Given the description of an element on the screen output the (x, y) to click on. 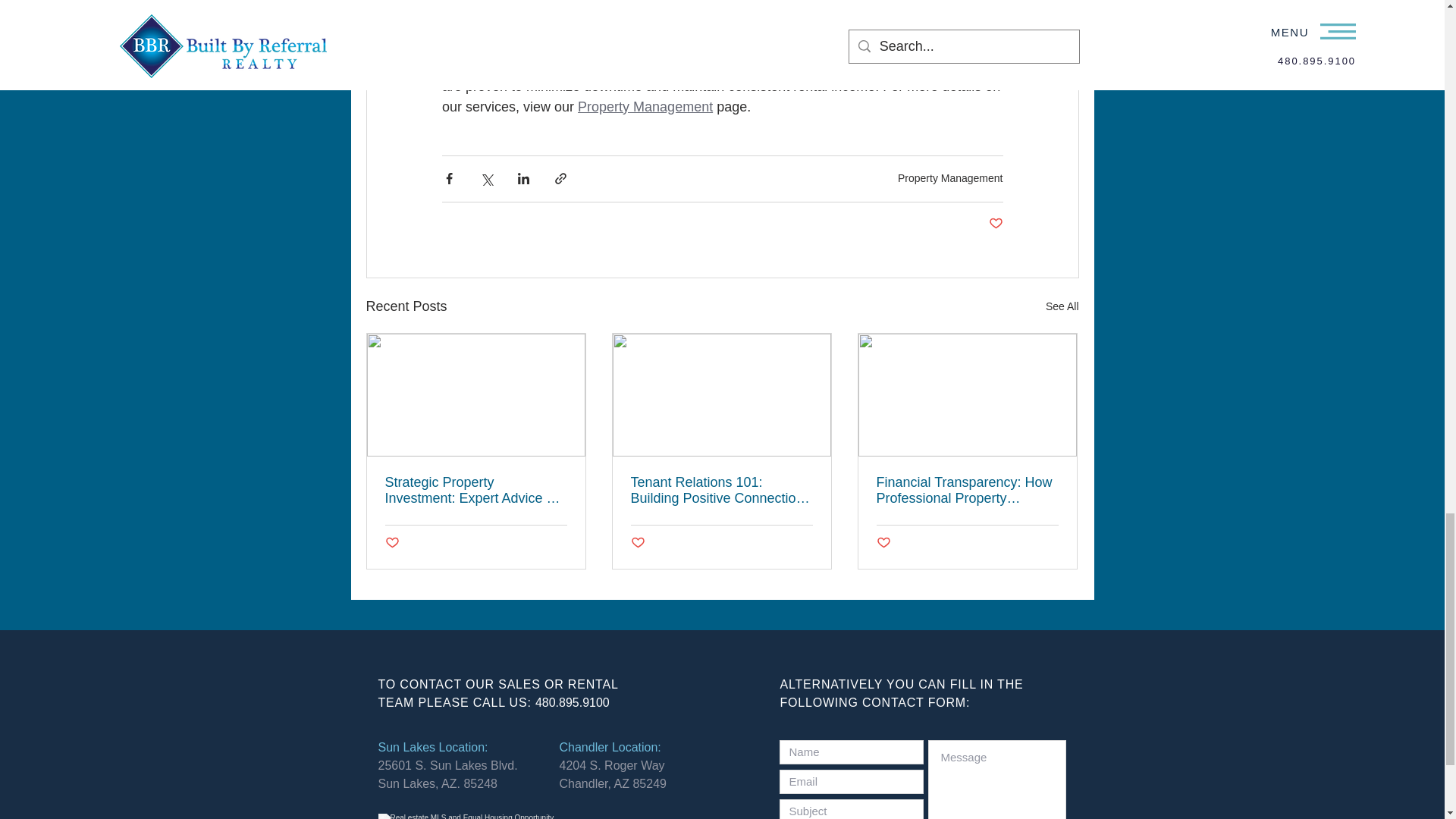
Property Management (950, 177)
Post not marked as liked (883, 543)
Property Management (645, 106)
Post not marked as liked (995, 223)
Post not marked as liked (637, 543)
See All (1061, 306)
Post not marked as liked (391, 543)
